Given the description of an element on the screen output the (x, y) to click on. 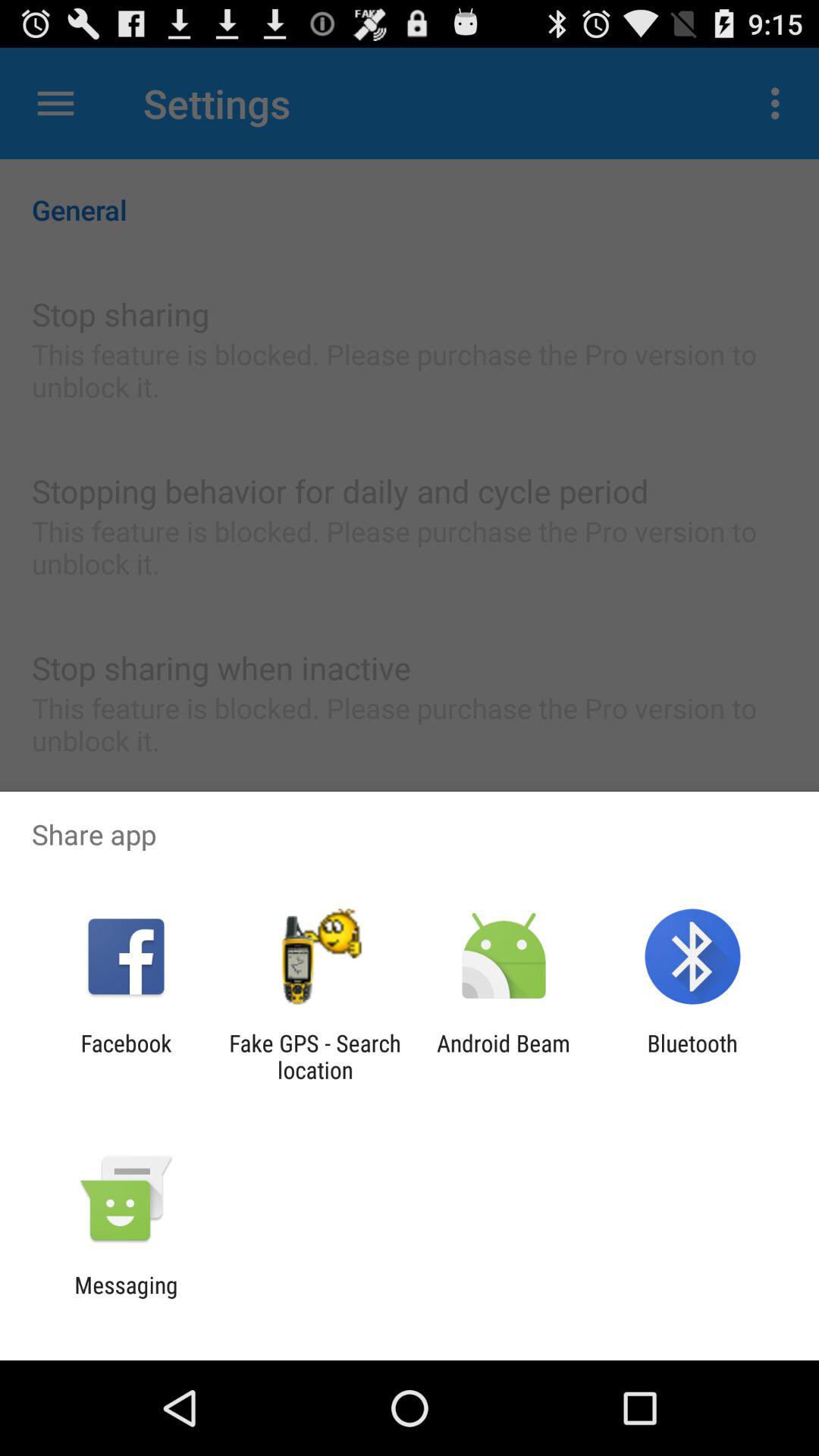
press the item next to facebook item (314, 1056)
